Given the description of an element on the screen output the (x, y) to click on. 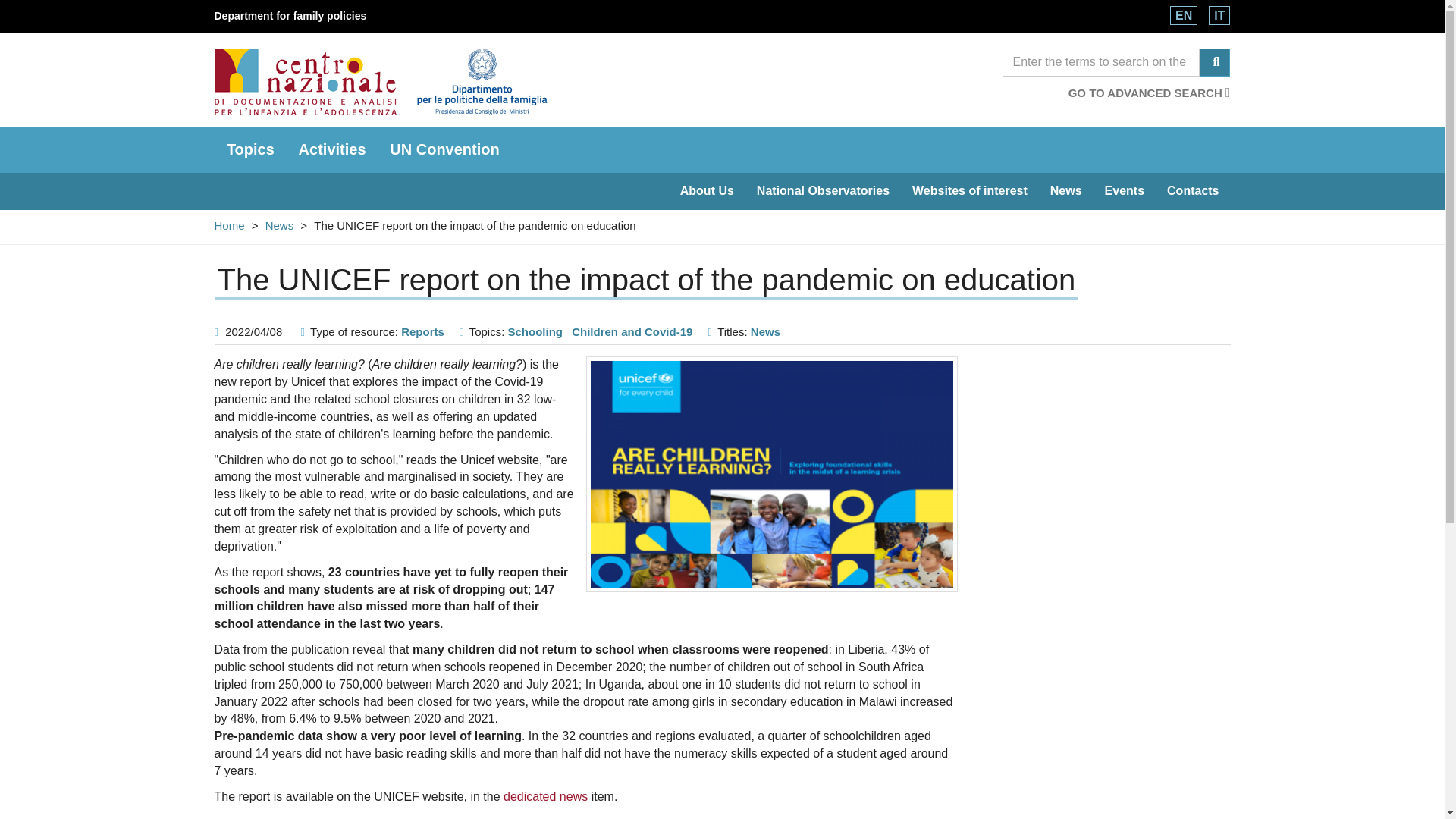
Topics (249, 148)
Search (1101, 62)
EN (1183, 15)
Sito del Dipartimento per le politiche della famiglia (290, 15)
IT (1219, 15)
Department for family policies (290, 15)
GO TO ADVANCED SEARCH (1149, 92)
Cerca (1214, 62)
